Given the description of an element on the screen output the (x, y) to click on. 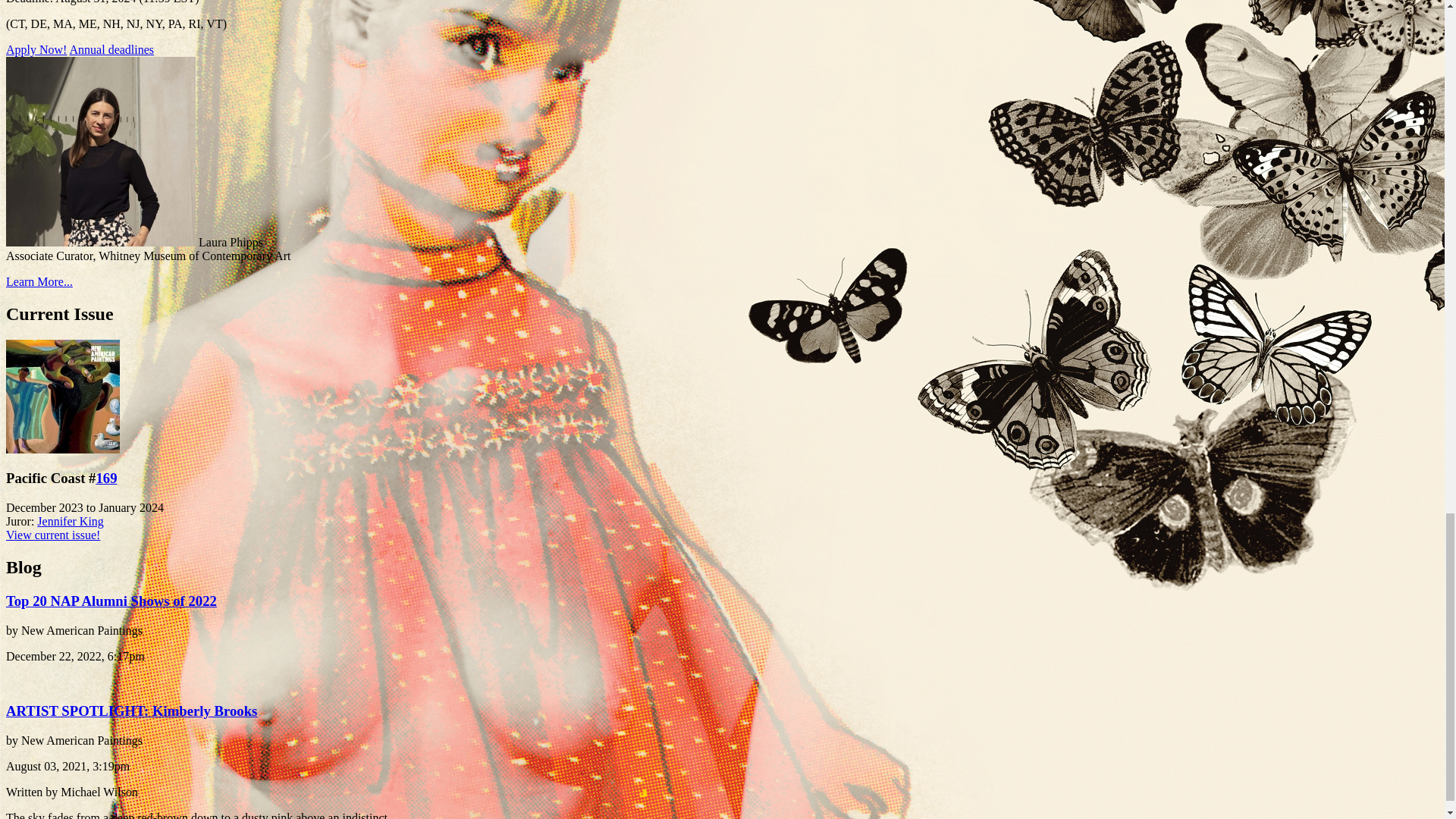
Top 20 NAP Alumni Shows of 2022 (110, 600)
ARTIST SPOTLIGHT: Kimberly Brooks (131, 710)
169 (106, 478)
Apply Now! (35, 49)
Annual deadlines (111, 49)
View current issue! (52, 534)
Jennifer King (70, 521)
